Given the description of an element on the screen output the (x, y) to click on. 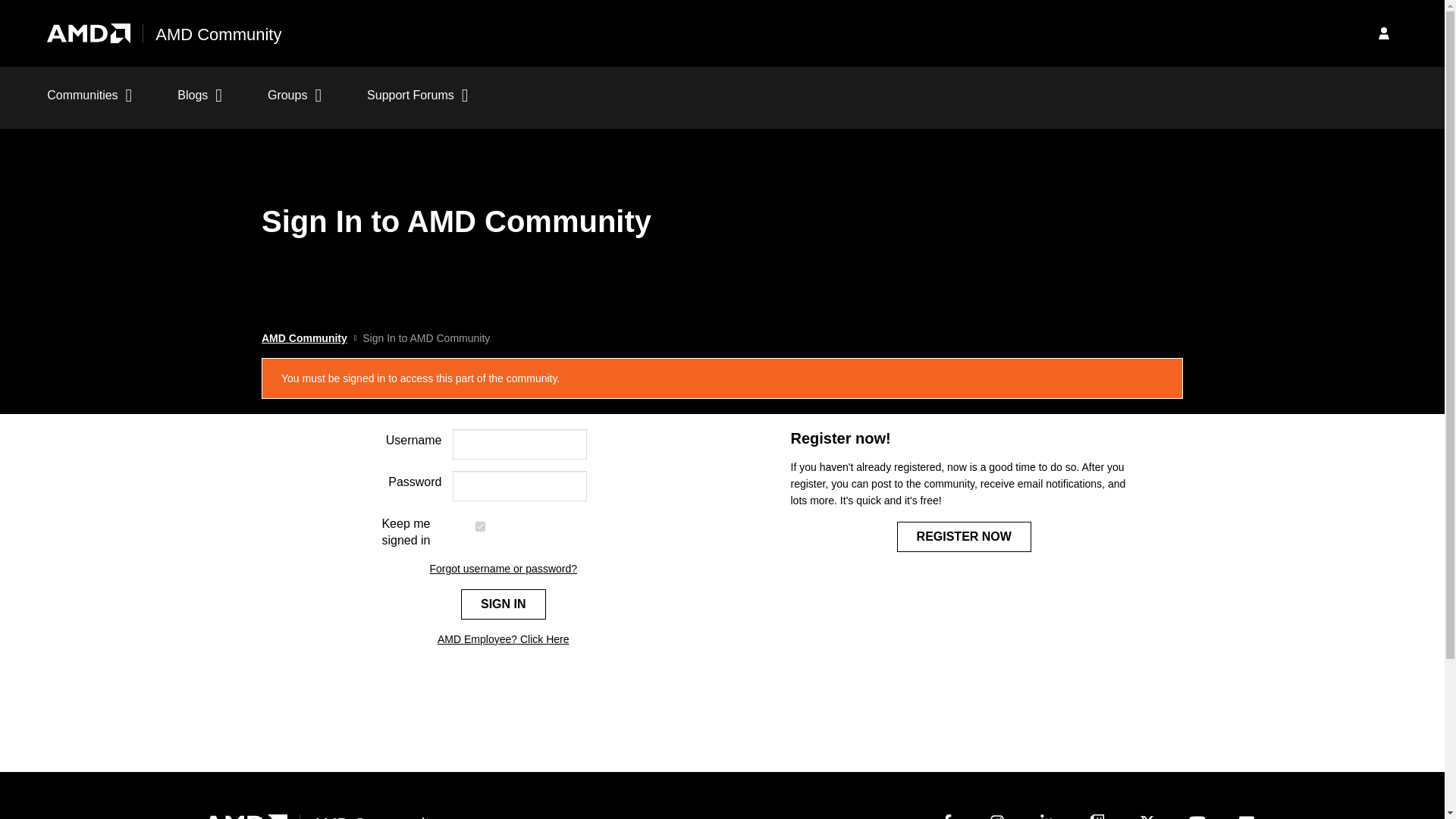
Blogs (199, 103)
AMD Community (218, 34)
Groups (294, 103)
AMD Logo (244, 815)
AMD Community (375, 817)
AMD Employee? Click Here (503, 639)
Sign In (1383, 32)
AMD Community (304, 337)
Sign In (503, 603)
Support Forums (416, 103)
